Given the description of an element on the screen output the (x, y) to click on. 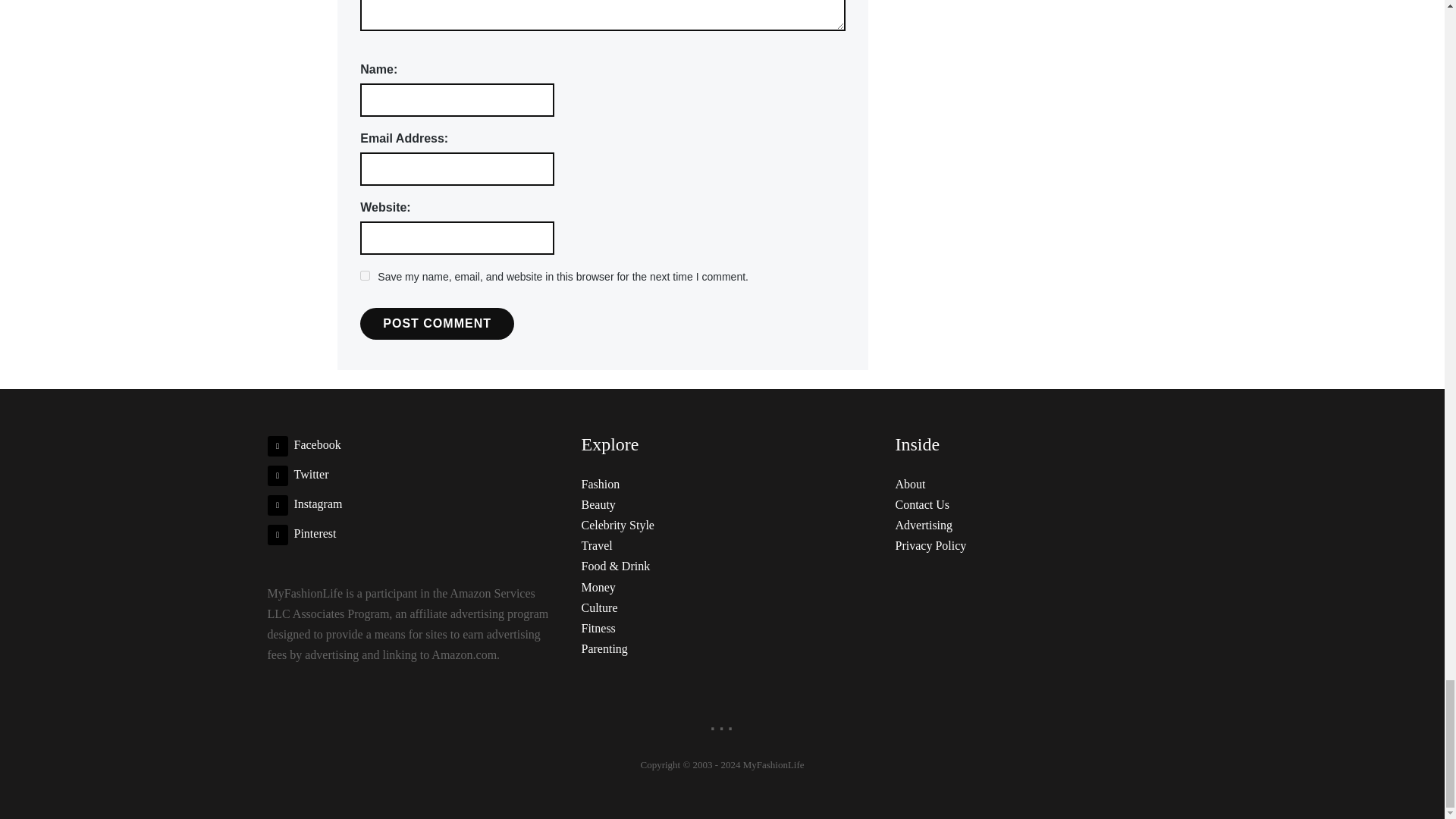
Instagram (304, 503)
Pinterest (301, 533)
yes (364, 275)
Facebook (303, 444)
Post Comment (436, 323)
Twitter (297, 473)
